Given the description of an element on the screen output the (x, y) to click on. 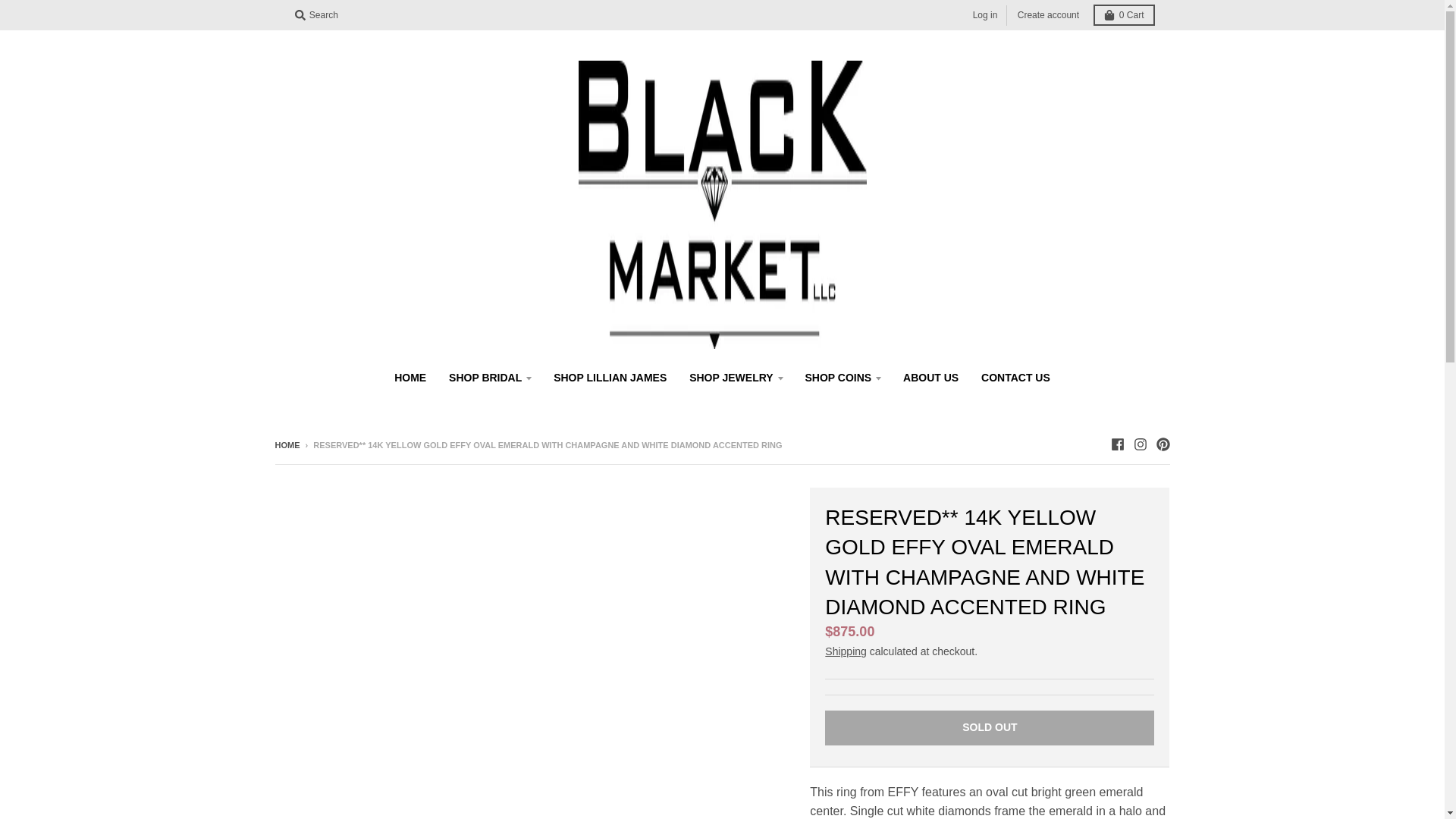
SHOP COINS (842, 377)
Facebook - Black Market LLC (1116, 444)
Back to the frontpage (287, 444)
Instagram - Black Market LLC (1139, 444)
Log in (985, 14)
Create account (1048, 14)
0 Cart (1123, 14)
Search (315, 14)
SHOP JEWELRY (735, 377)
HOME (409, 377)
SHOP LILLIAN JAMES (610, 377)
Pinterest - Black Market LLC (1162, 444)
SHOP BRIDAL (489, 377)
